Given the description of an element on the screen output the (x, y) to click on. 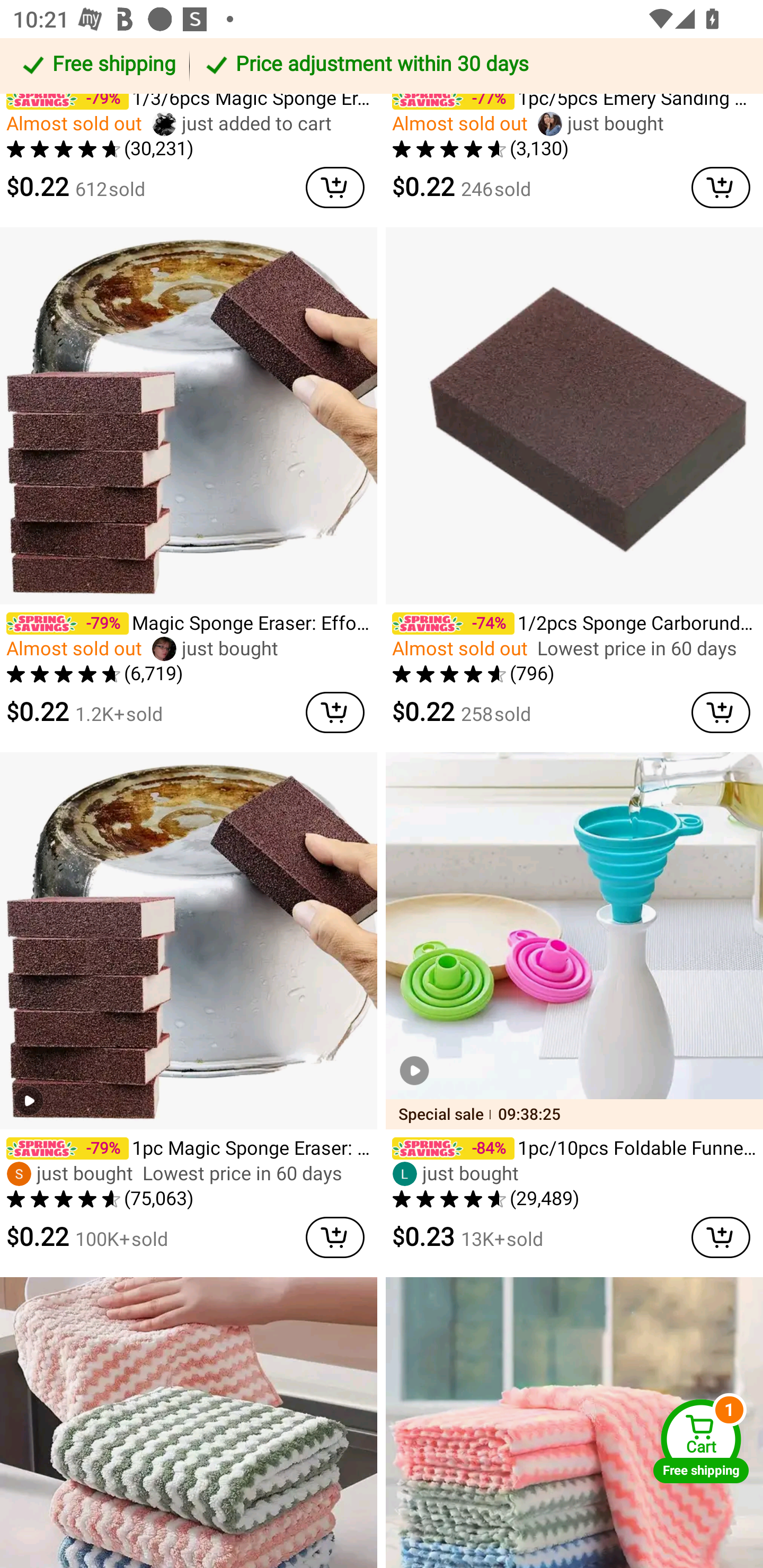
Free shipping (97, 65)
Price adjustment within 30 days (472, 65)
cart delete (334, 187)
cart delete (720, 187)
cart delete (334, 712)
cart delete (720, 712)
cart delete (334, 1236)
cart delete (720, 1236)
Cart Free shipping Cart (701, 1440)
